Given the description of an element on the screen output the (x, y) to click on. 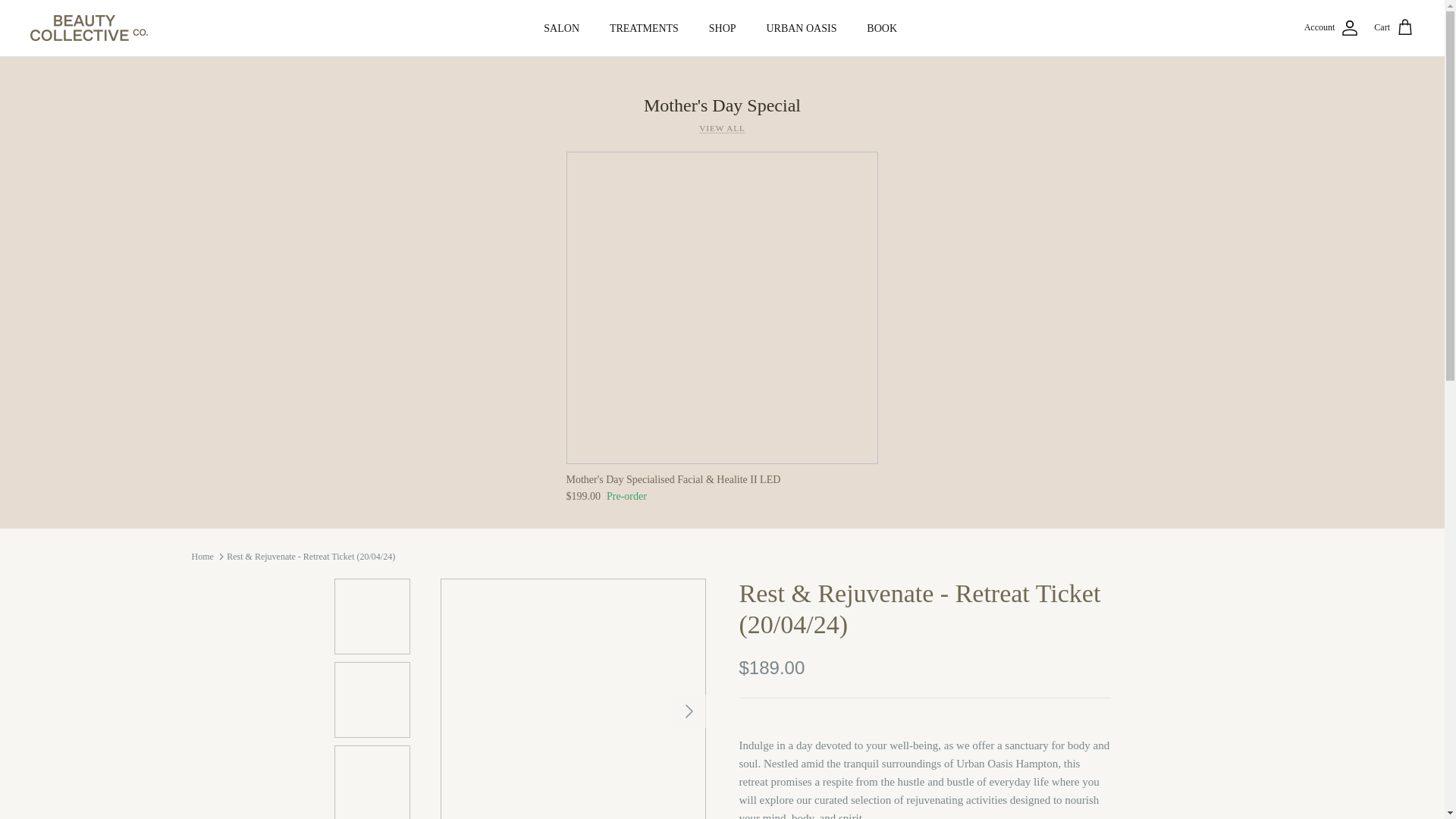
BOOK (882, 27)
Account (1331, 27)
Beauty Collective Co. (89, 27)
SALON (560, 27)
RIGHT (688, 711)
SHOP (722, 27)
URBAN OASIS (801, 27)
TREATMENTS (644, 27)
Cart (1393, 27)
